Given the description of an element on the screen output the (x, y) to click on. 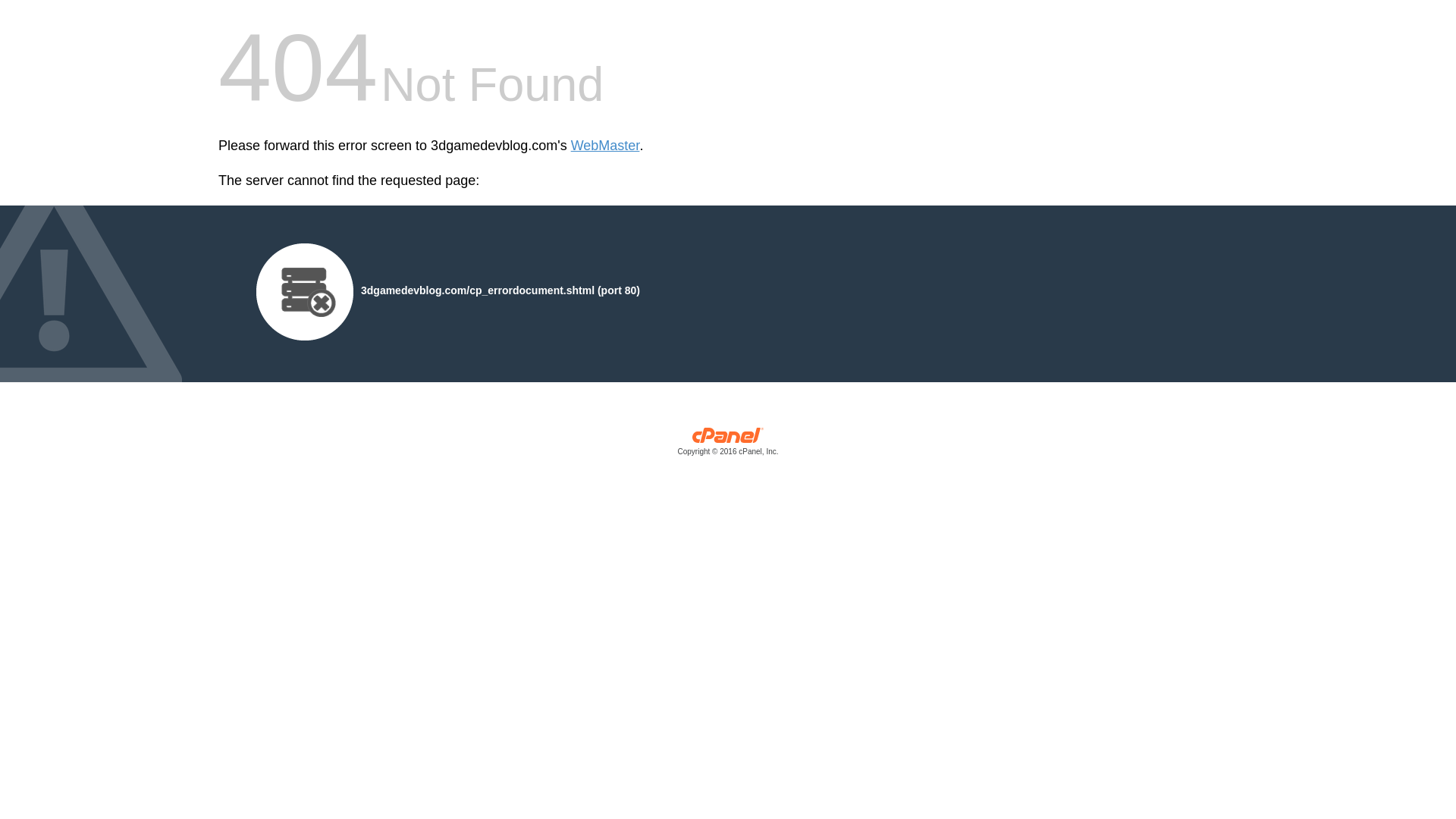
WebMaster Element type: text (605, 145)
